Given the description of an element on the screen output the (x, y) to click on. 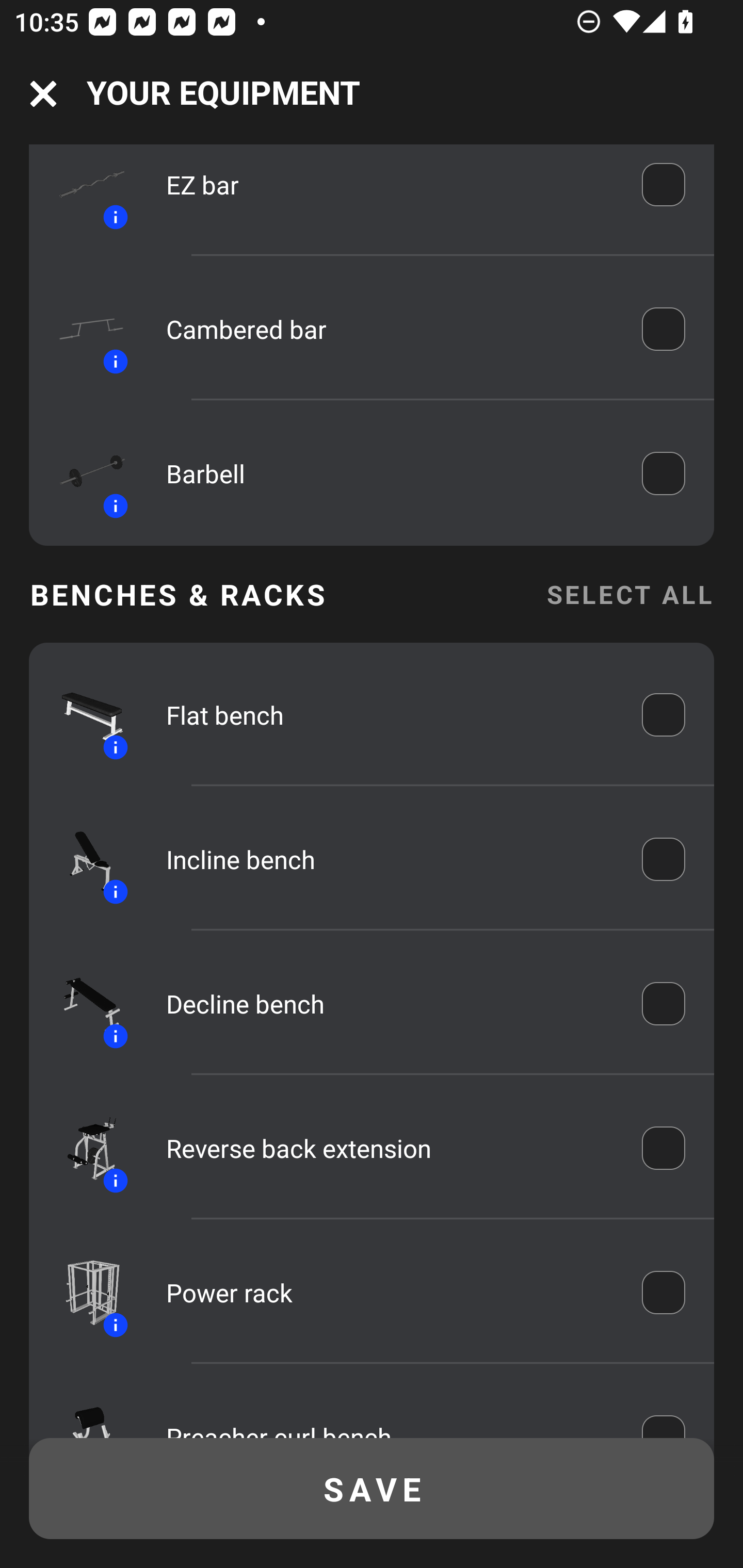
Navigation icon (43, 93)
Equipment icon Information icon (82, 191)
EZ bar (389, 185)
Equipment icon Information icon (82, 328)
Cambered bar (389, 329)
Equipment icon Information icon (82, 473)
Barbell (389, 473)
SELECT ALL (629, 594)
Equipment icon Information icon (82, 714)
Flat bench (389, 714)
Equipment icon Information icon (82, 859)
Incline bench (389, 859)
Equipment icon Information icon (82, 1004)
Decline bench (389, 1003)
Equipment icon Information icon (82, 1148)
Reverse back extension (389, 1148)
Equipment icon Information icon (82, 1292)
Power rack (389, 1292)
SAVE (371, 1488)
